Given the description of an element on the screen output the (x, y) to click on. 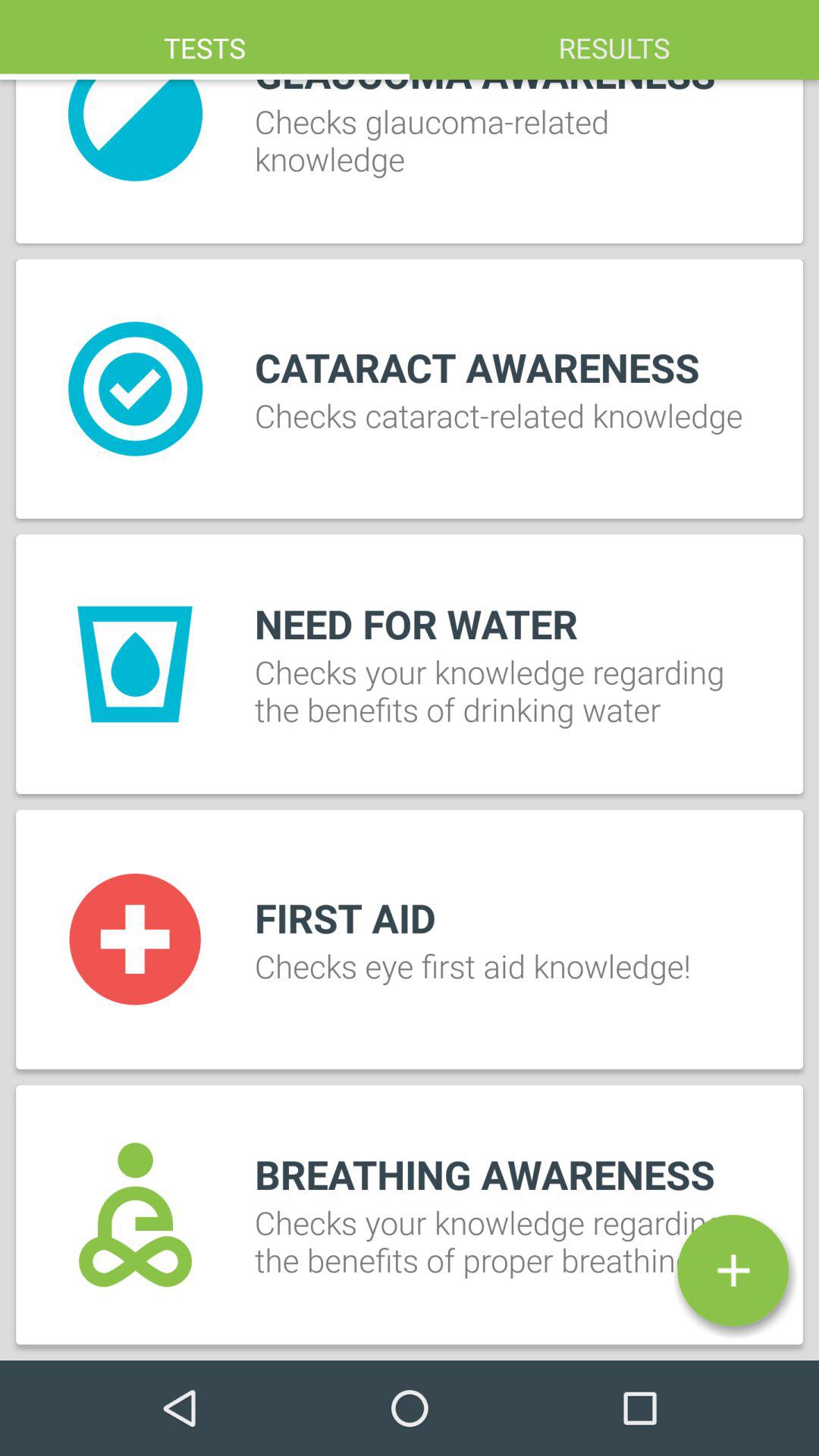
new item (733, 1270)
